Given the description of an element on the screen output the (x, y) to click on. 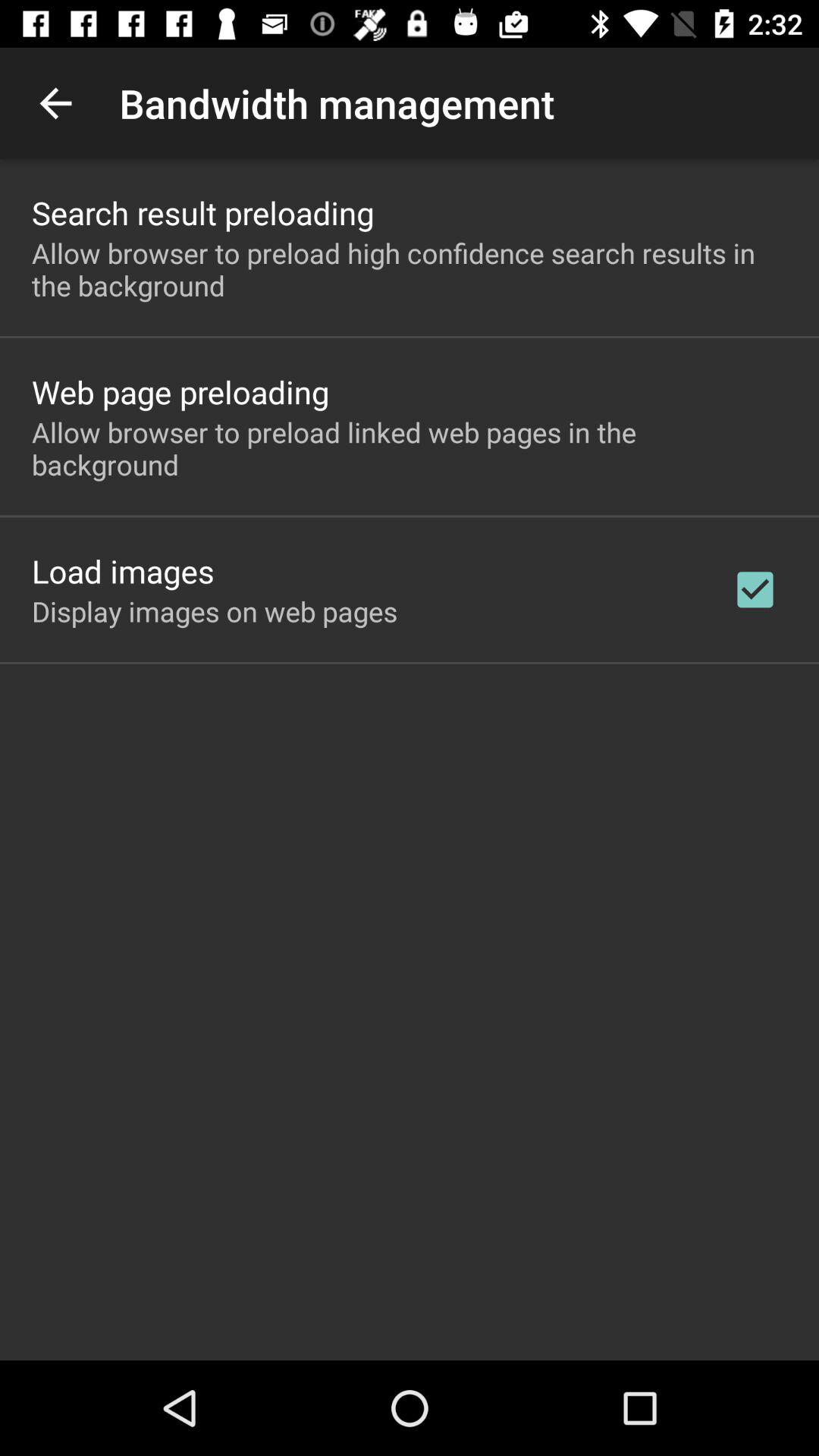
scroll to search result preloading icon (202, 212)
